Given the description of an element on the screen output the (x, y) to click on. 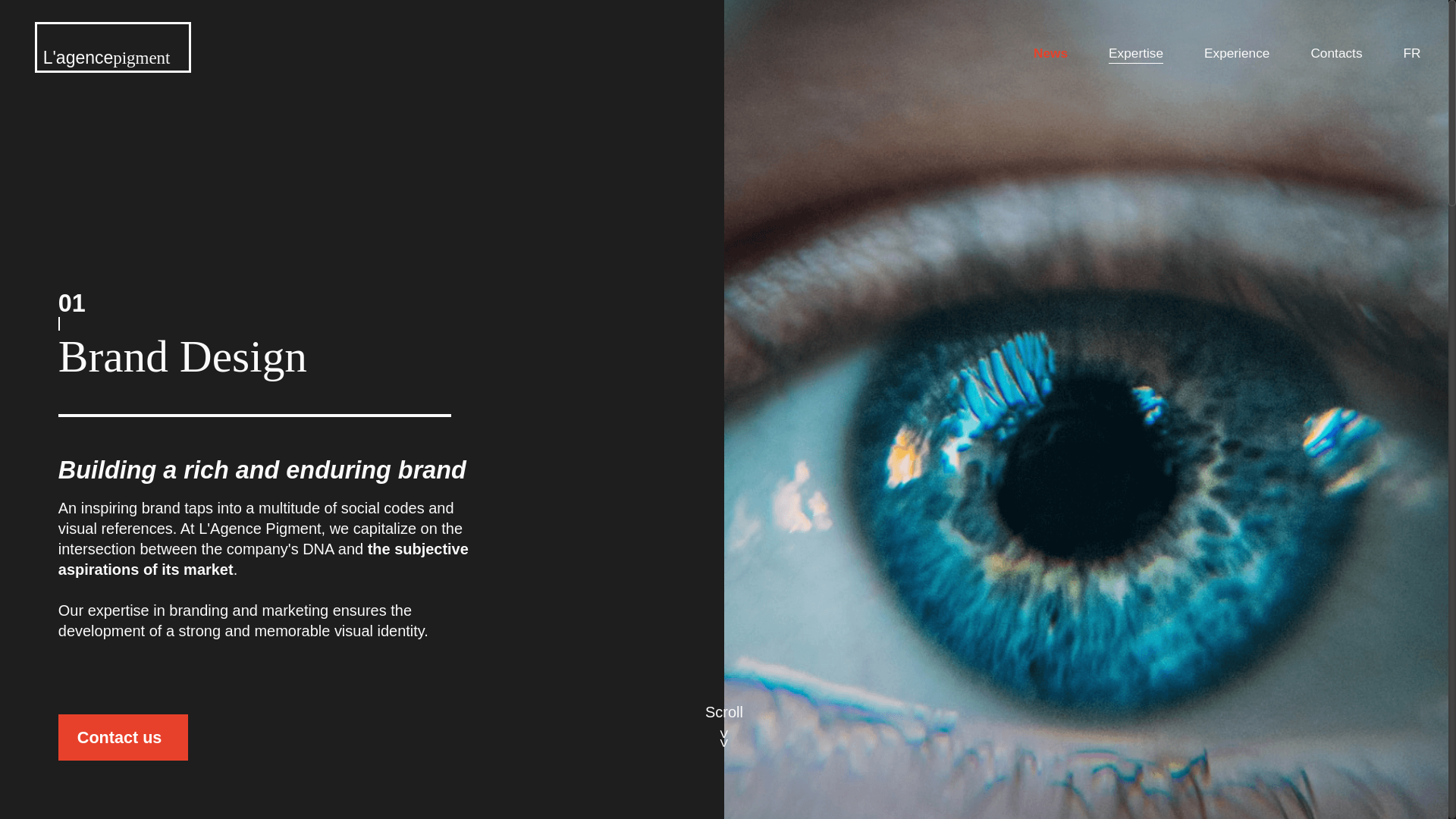
Expertise (1135, 53)
News (1050, 53)
Experience (1236, 53)
Contact us (123, 737)
L'agencepigment (112, 47)
Contacts (1335, 53)
